Given the description of an element on the screen output the (x, y) to click on. 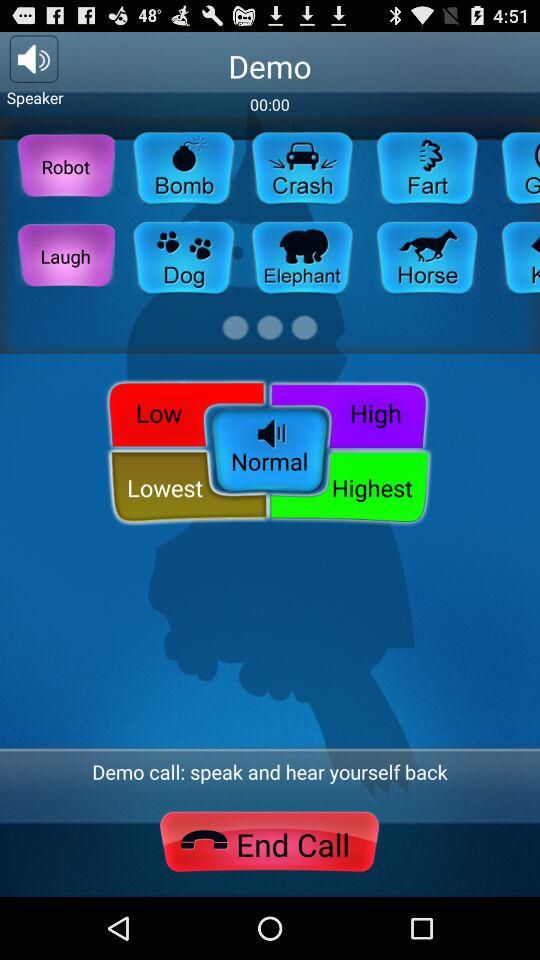
scroll to the lowest icon (188, 487)
